Given the description of an element on the screen output the (x, y) to click on. 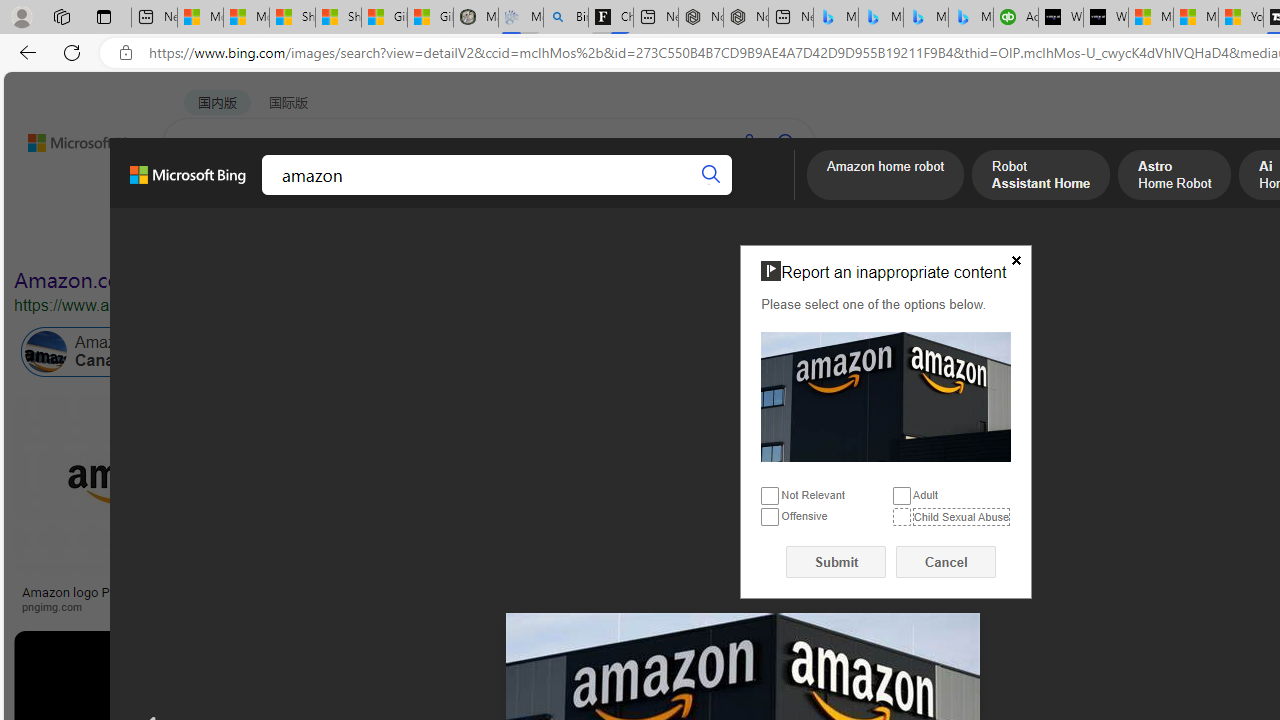
Invisible focusable element for fixing accessibility issue (749, 249)
Manatee Mortality Statistics | FWC (475, 17)
Alexa Smart Home Devices (1183, 584)
ACADEMIC (548, 195)
Echo Dot 4th Gen (1183, 465)
License (665, 237)
MORE (779, 195)
Bing Real Estate - Home sales and rental listings (565, 17)
pngimg.com (133, 606)
Amazon home robot (885, 177)
Amazon Echo Dot 4th Gen (1183, 465)
